Given the description of an element on the screen output the (x, y) to click on. 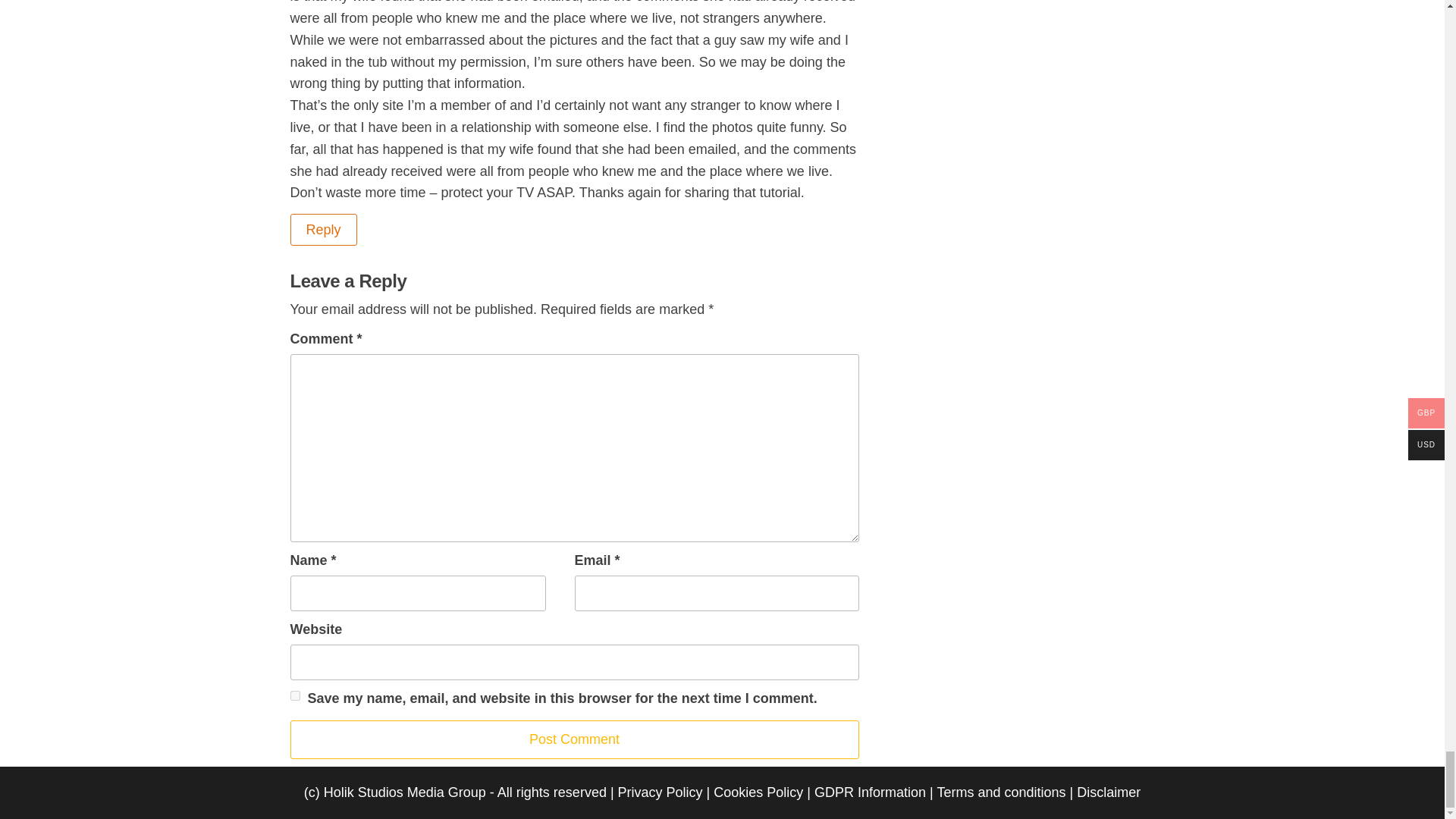
Post Comment (574, 739)
yes (294, 696)
